Given the description of an element on the screen output the (x, y) to click on. 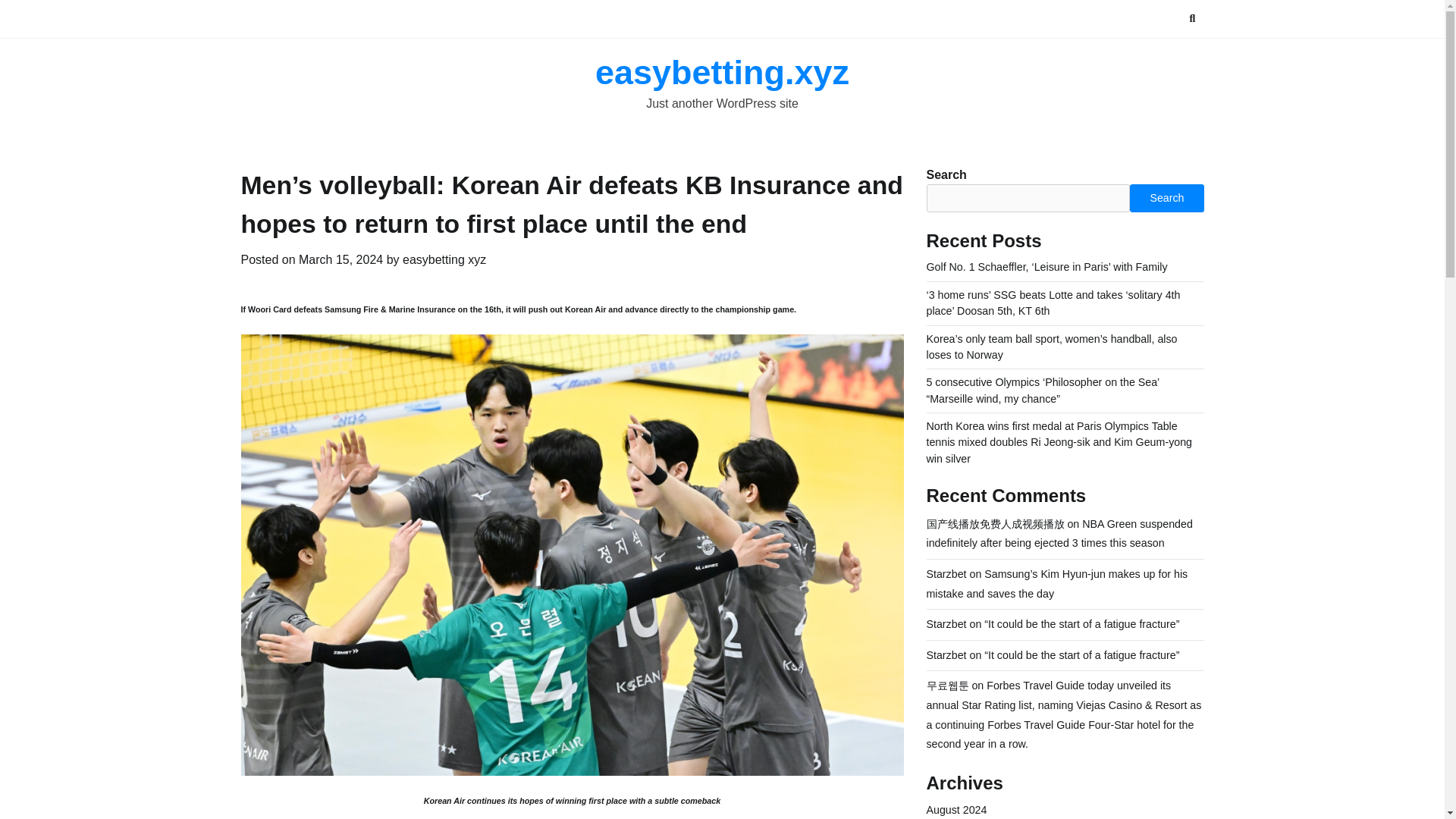
Search (1164, 53)
Search (1166, 197)
easybetting xyz (444, 259)
easybetting.xyz (721, 72)
Search (1192, 18)
March 15, 2024 (340, 259)
